Given the description of an element on the screen output the (x, y) to click on. 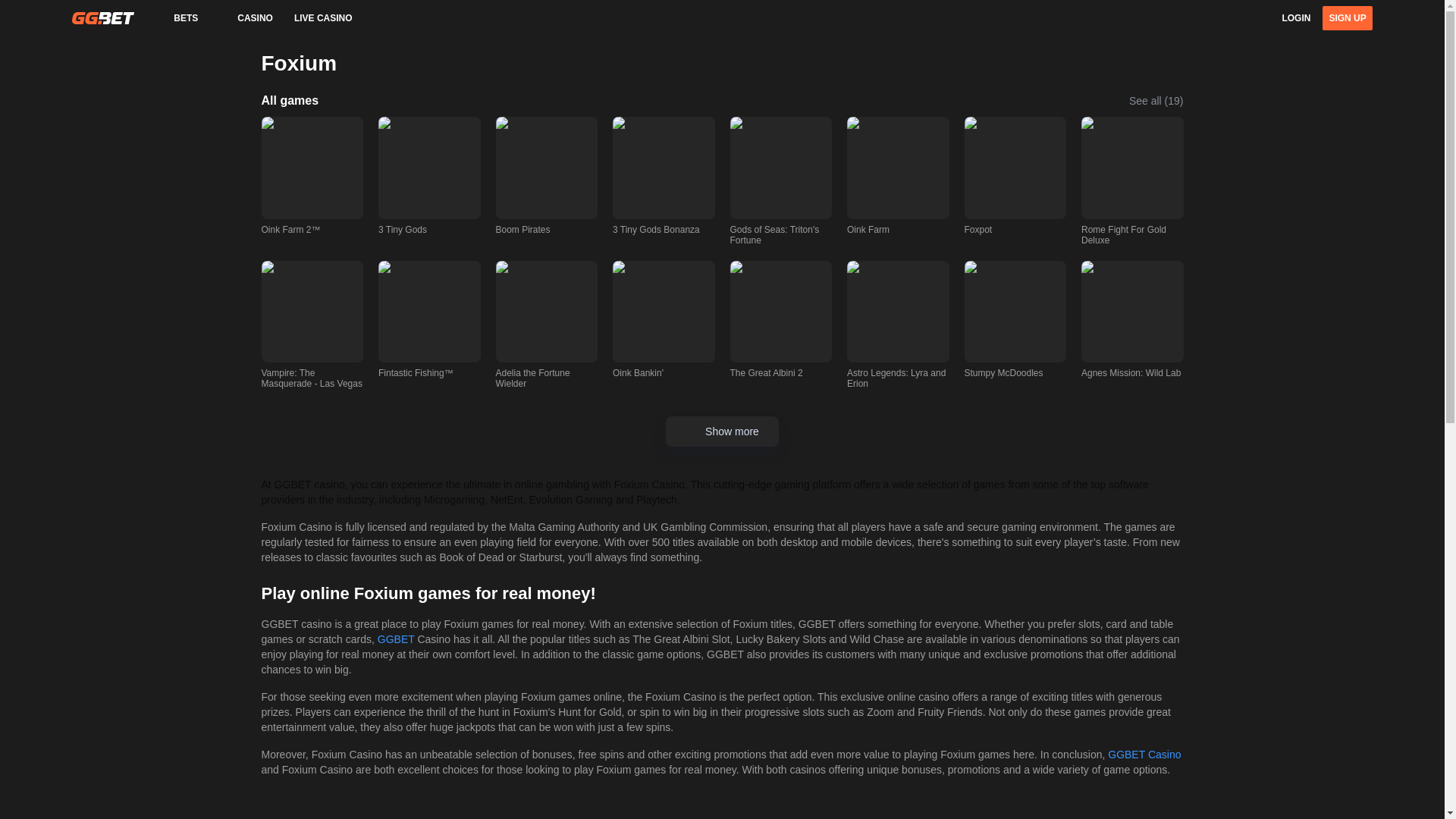
CASINO (244, 17)
Show more (721, 431)
GGBET Casino (1144, 754)
BETS (175, 17)
GGBET (395, 639)
LIVE CASINO (321, 17)
